Given the description of an element on the screen output the (x, y) to click on. 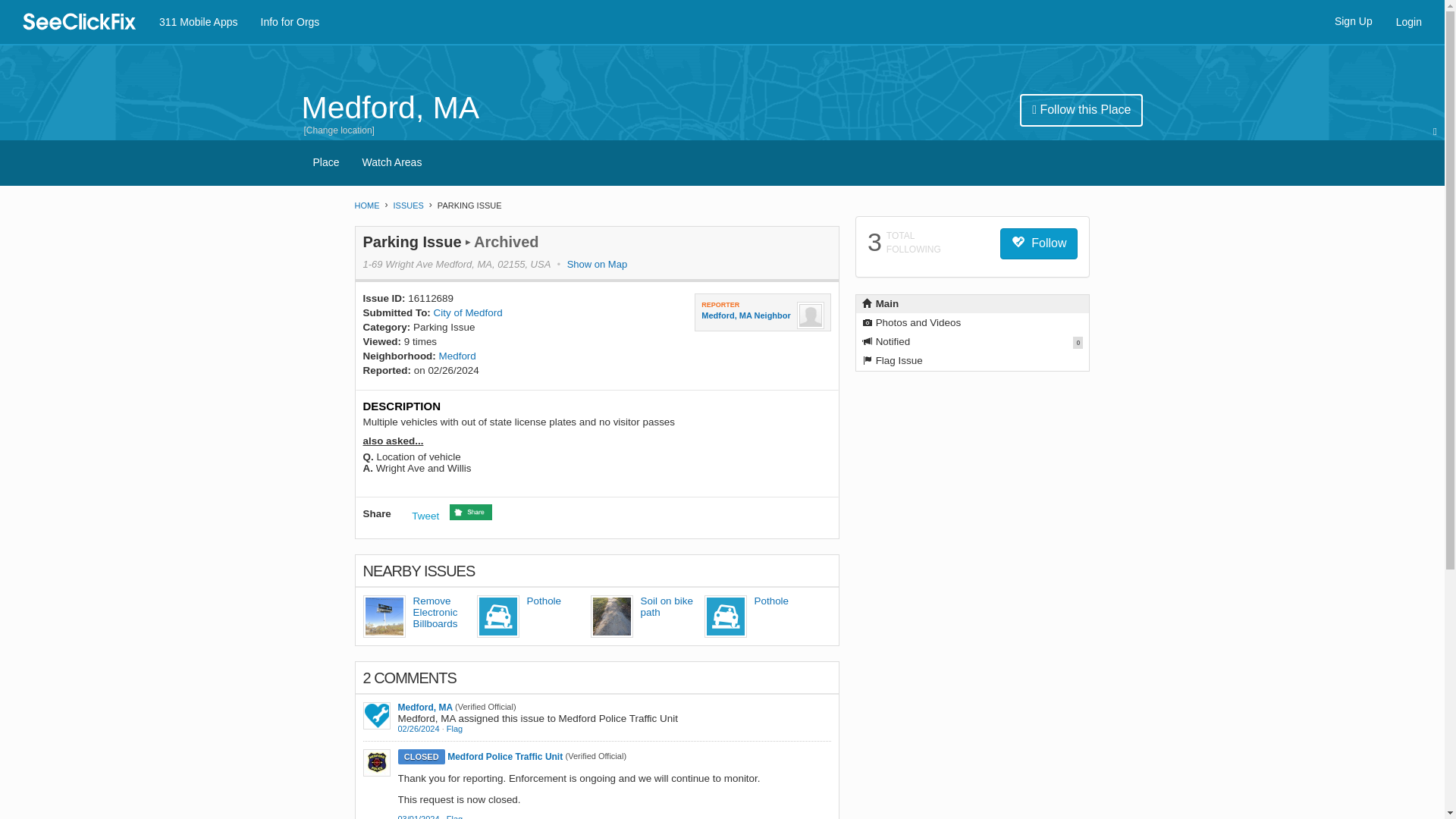
Place (325, 162)
ISSUES (408, 204)
Follow this Place (1081, 110)
Flag (454, 816)
Medford, MA Neighbor (746, 315)
Login (1408, 22)
Watch Areas (391, 162)
Show on Map (597, 264)
Watch Areas (391, 162)
Medford, MA (424, 706)
City of Medford (467, 312)
Place (325, 162)
Pothole (542, 600)
Flag (454, 728)
Flag (454, 728)
